Given the description of an element on the screen output the (x, y) to click on. 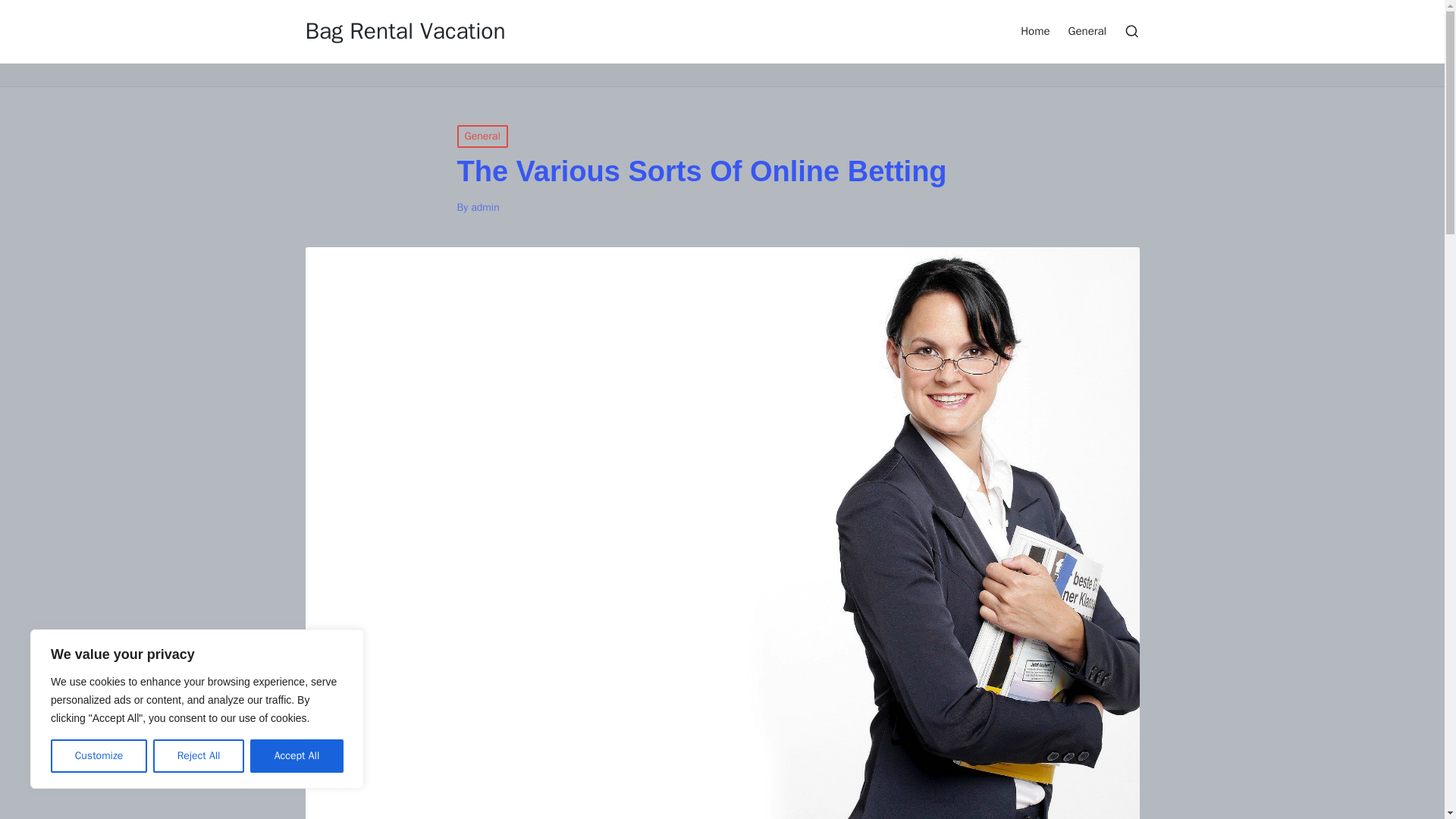
Accept All (296, 756)
General (1087, 30)
Customize (98, 756)
Bag Rental Vacation (404, 31)
View all posts by  (484, 206)
admin (484, 206)
Home (1034, 30)
Reject All (198, 756)
General (481, 136)
